Given the description of an element on the screen output the (x, y) to click on. 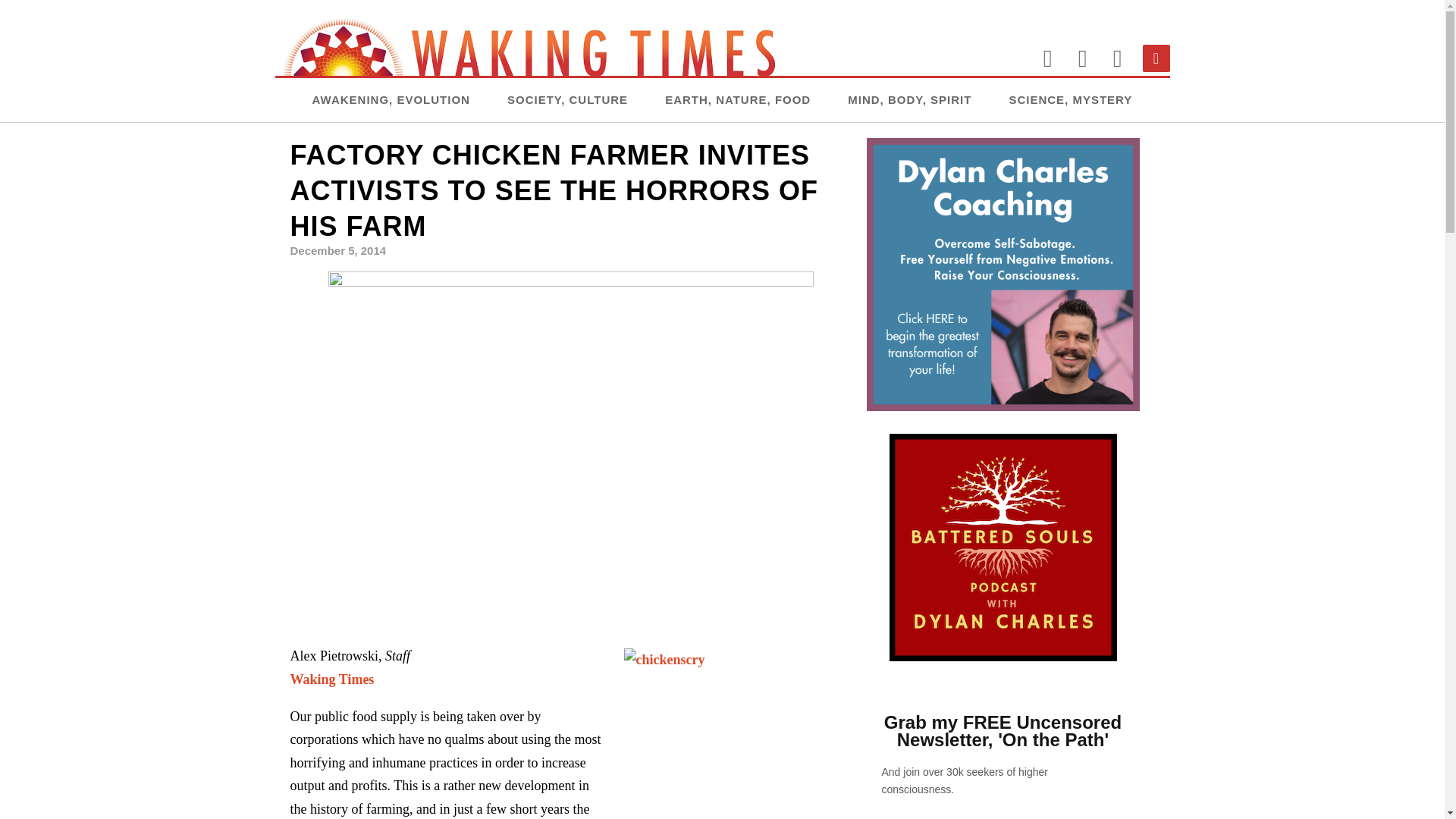
Waking Times (331, 679)
SOCIETY, CULTURE (566, 99)
AWAKENING, EVOLUTION (391, 99)
SCIENCE, MYSTERY (1070, 99)
MIND, BODY, SPIRIT (909, 99)
EARTH, NATURE, FOOD (737, 99)
